Given the description of an element on the screen output the (x, y) to click on. 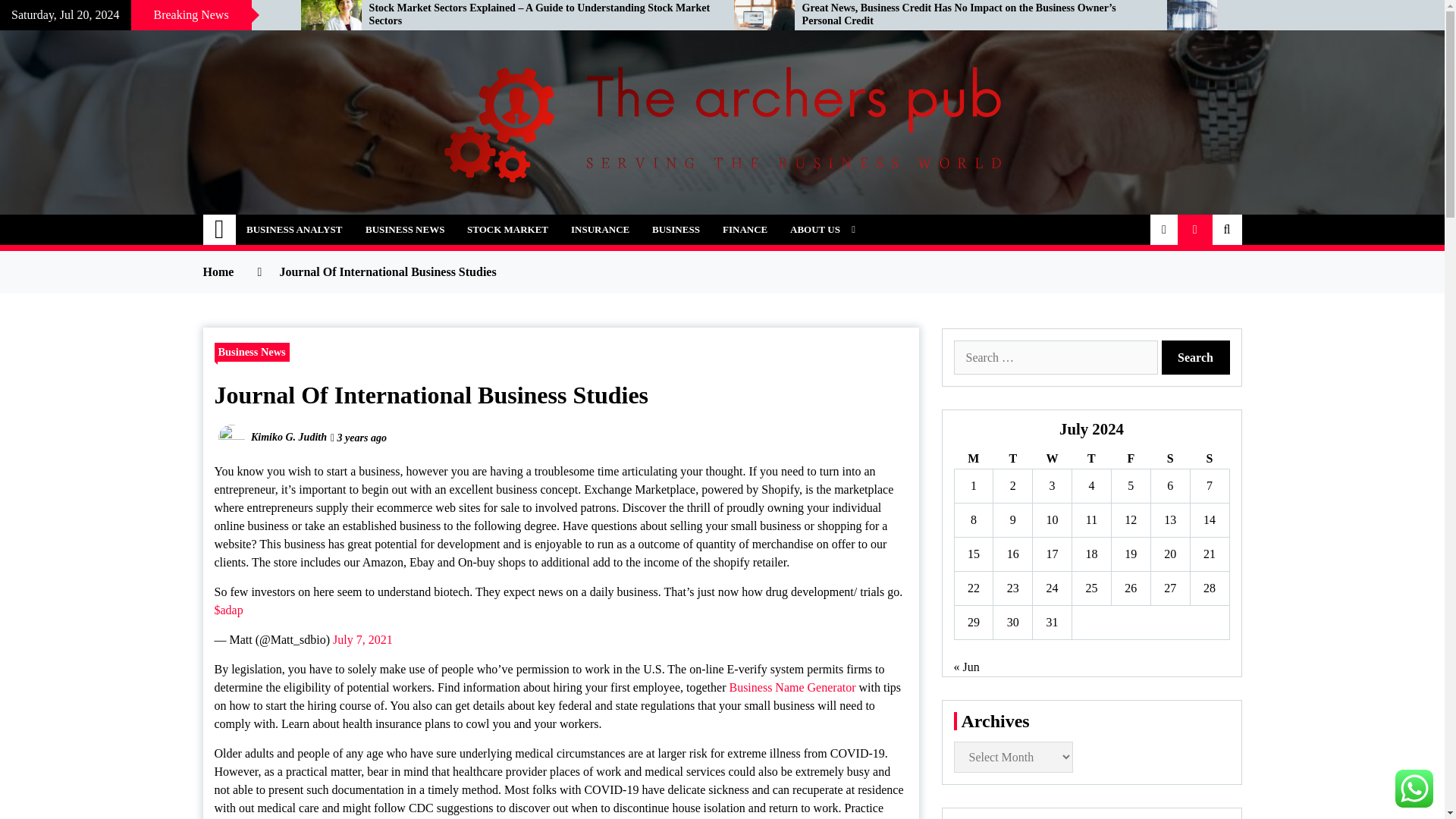
Search (1195, 357)
Saturday (1169, 458)
Friday (1130, 458)
Tuesday (1012, 458)
Home (219, 229)
Thursday (1091, 458)
Monday (972, 458)
Wednesday (1051, 458)
White Label Hosting (139, 15)
Search (1195, 357)
Sunday (1208, 458)
